Given the description of an element on the screen output the (x, y) to click on. 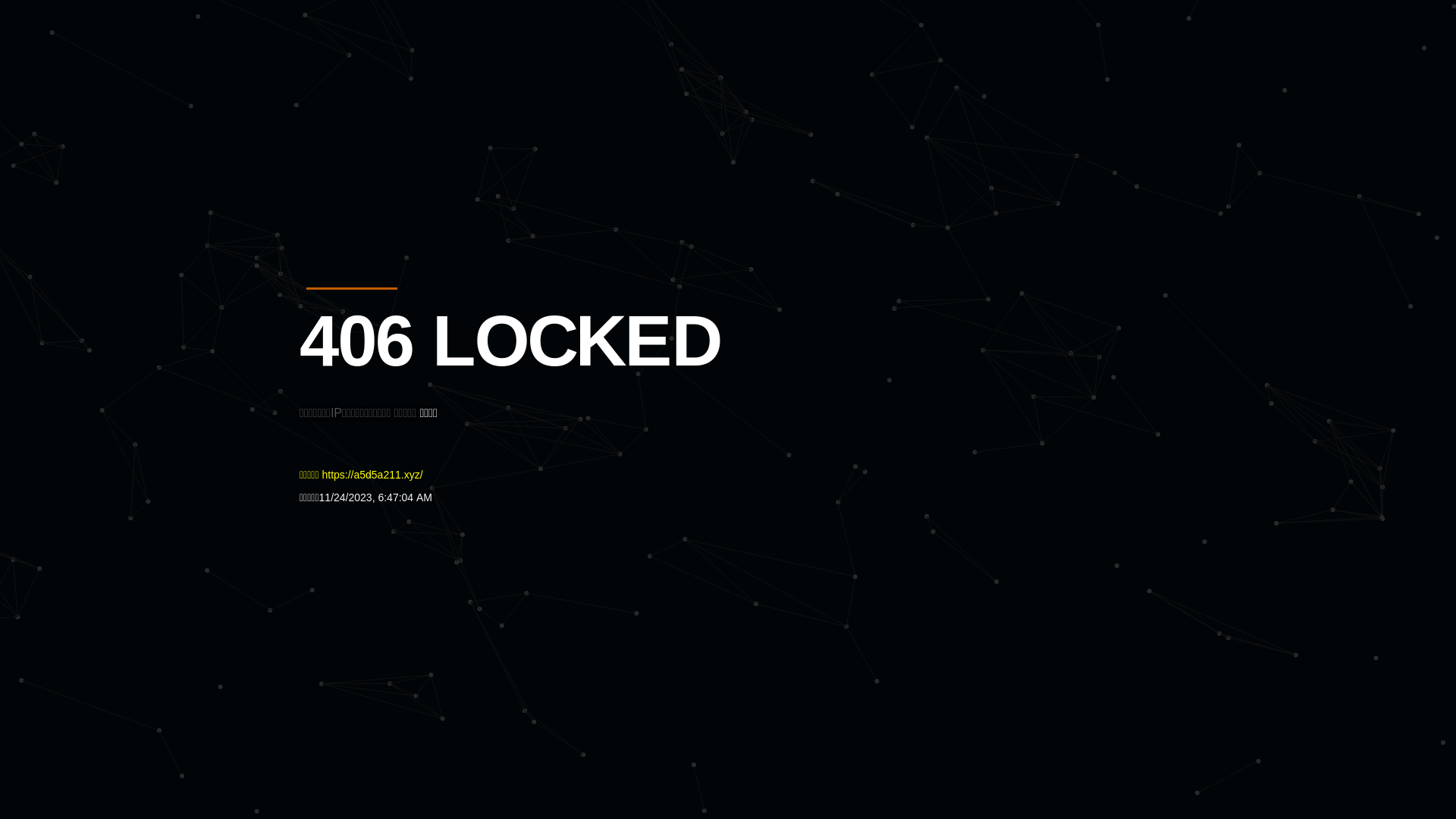
Quatro Element type: text (410, 86)
